Given the description of an element on the screen output the (x, y) to click on. 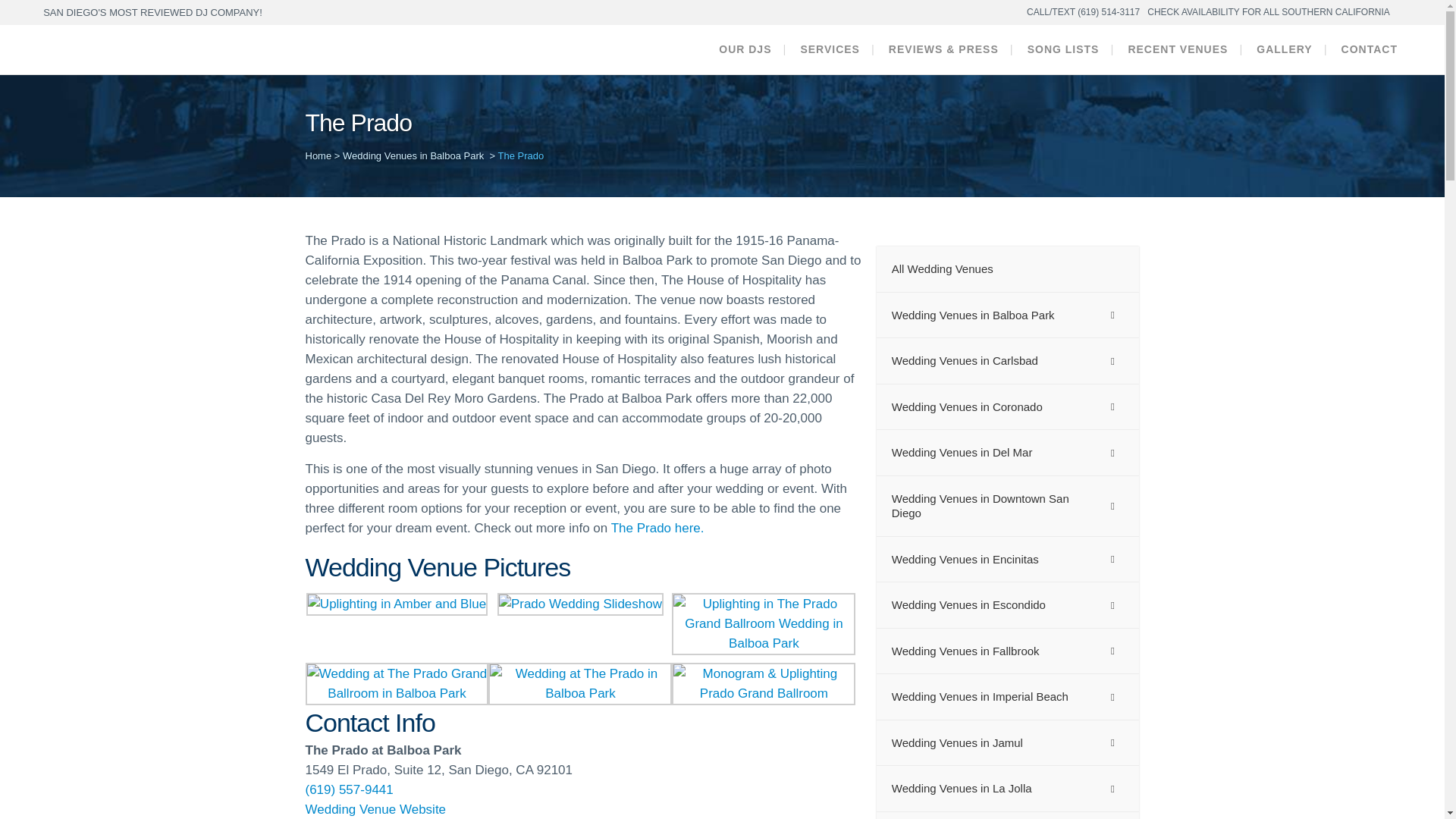
CONTACT (1368, 49)
OUR DJS (745, 49)
Call via Hangouts (348, 789)
SAN DIEGO'S MOST REVIEWED DJ COMPANY! (152, 12)
GALLERY (1283, 49)
CHECK AVAILABILITY FOR ALL SOUTHERN CALIFORNIA (1268, 12)
SERVICES (829, 49)
SONG LISTS (1063, 49)
RECENT VENUES (1177, 49)
